Given the description of an element on the screen output the (x, y) to click on. 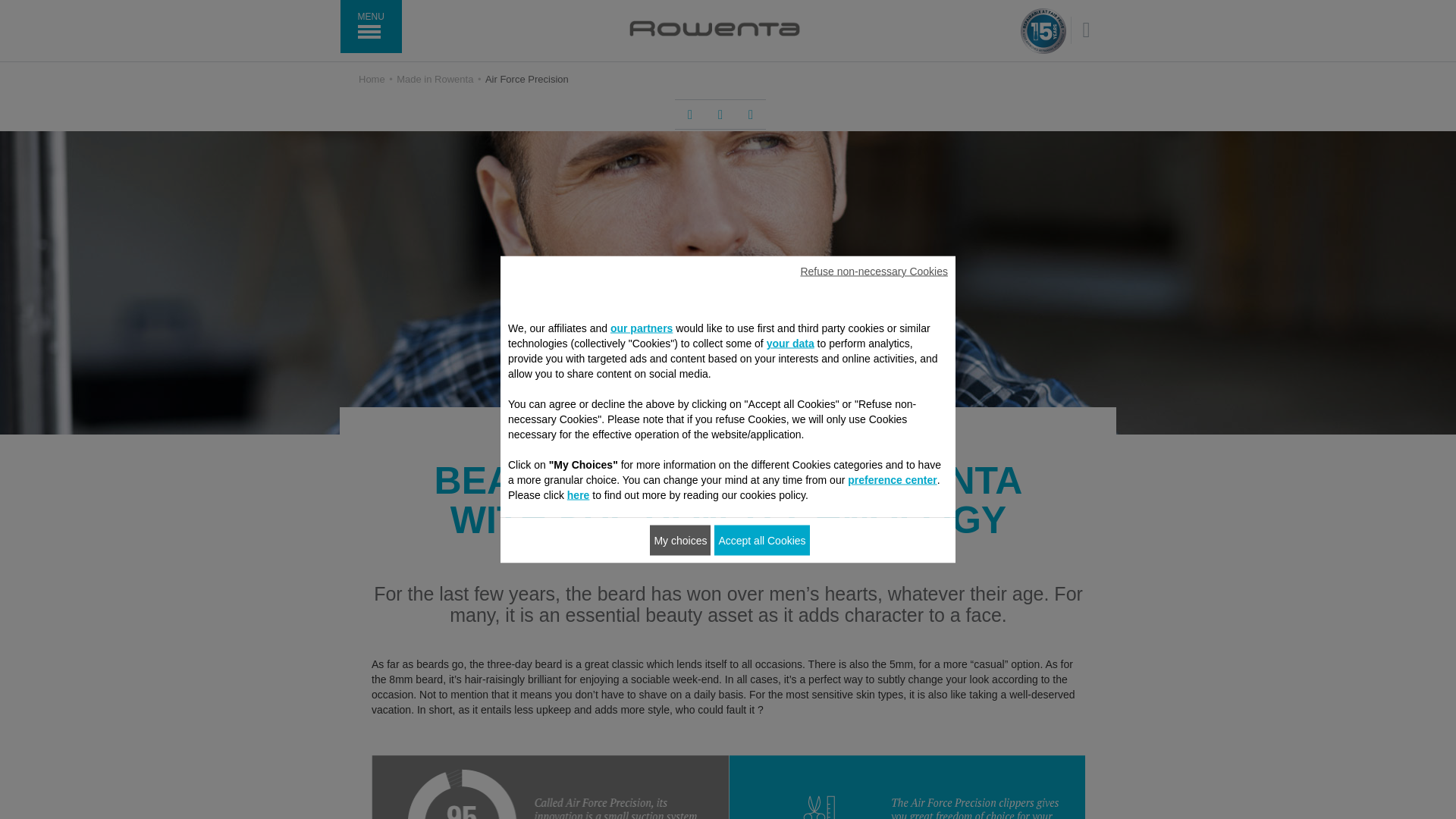
MENU (370, 26)
Rowenta International (713, 28)
